Given the description of an element on the screen output the (x, y) to click on. 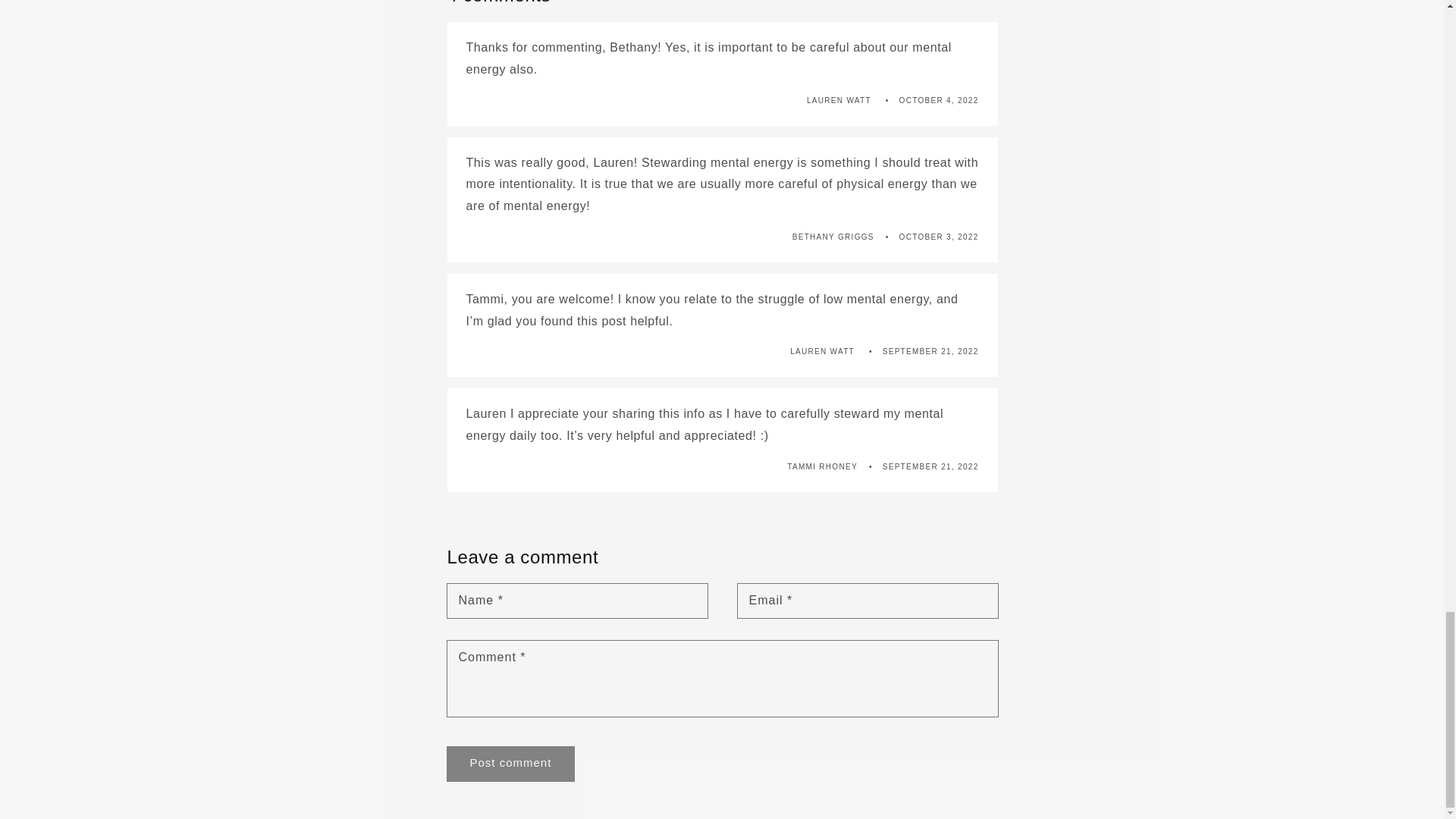
Post comment (510, 763)
Post comment (510, 763)
